Given the description of an element on the screen output the (x, y) to click on. 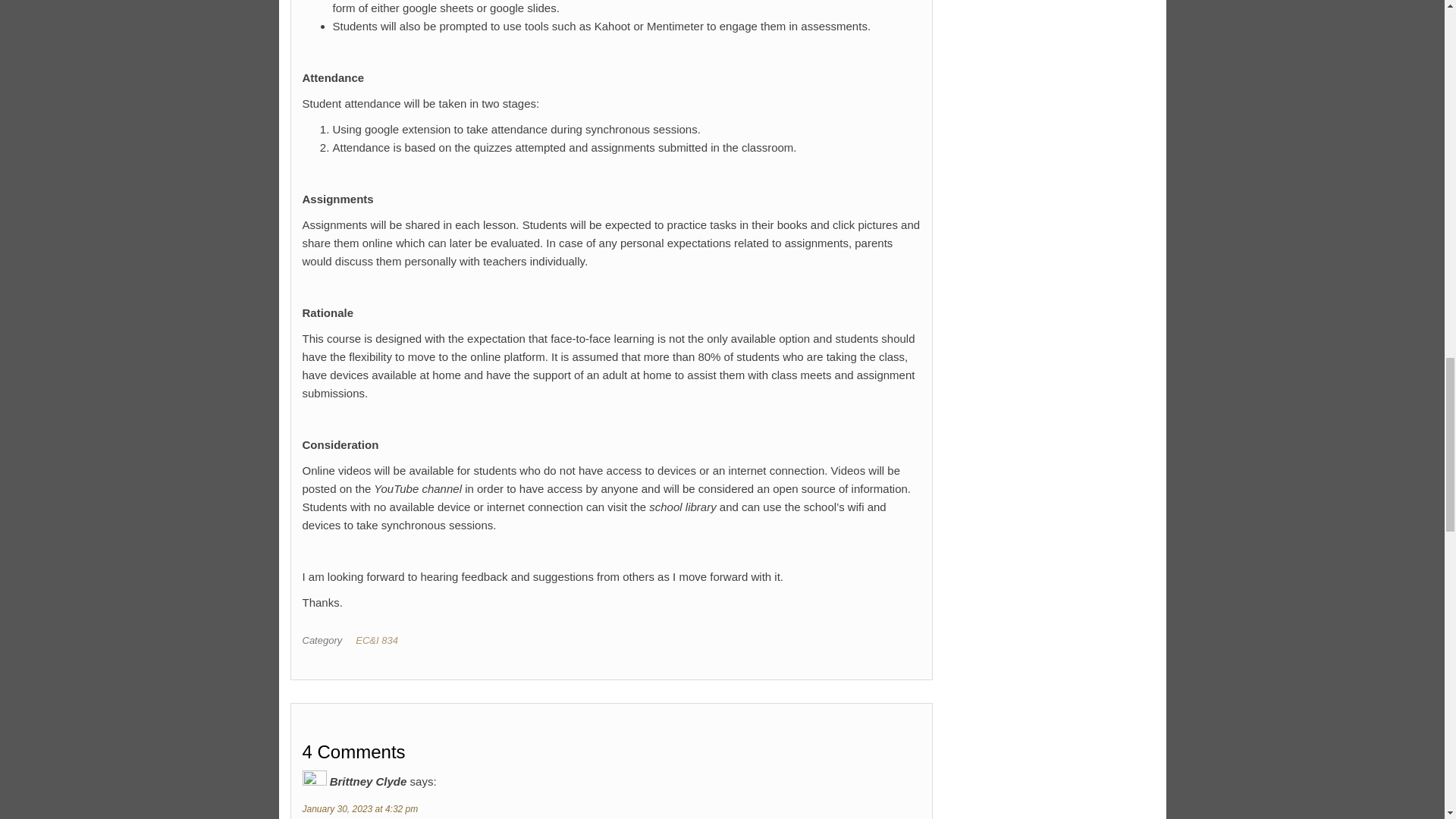
January 30, 2023 at 4:32 pm (359, 808)
